Given the description of an element on the screen output the (x, y) to click on. 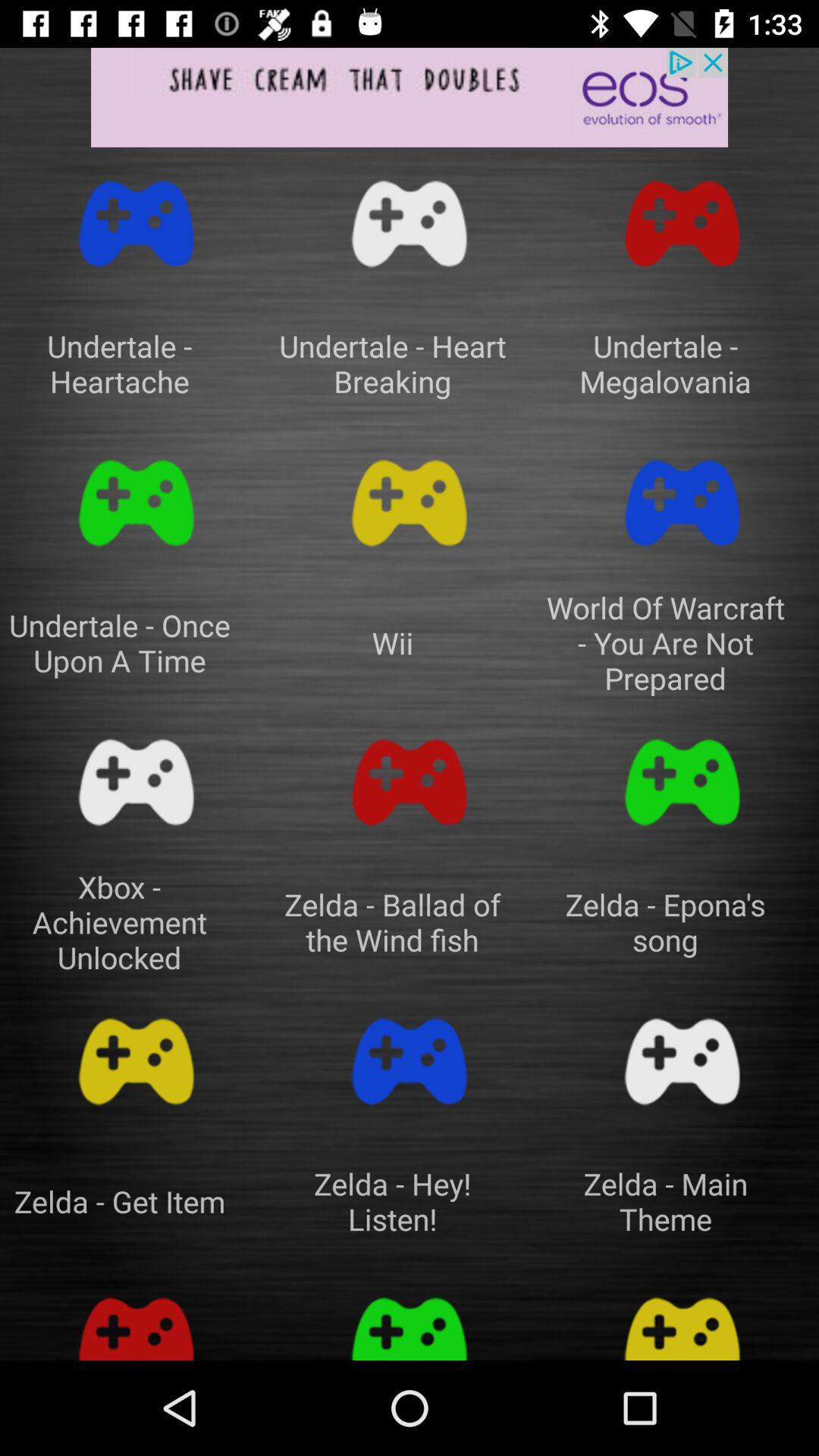
game (409, 503)
